Given the description of an element on the screen output the (x, y) to click on. 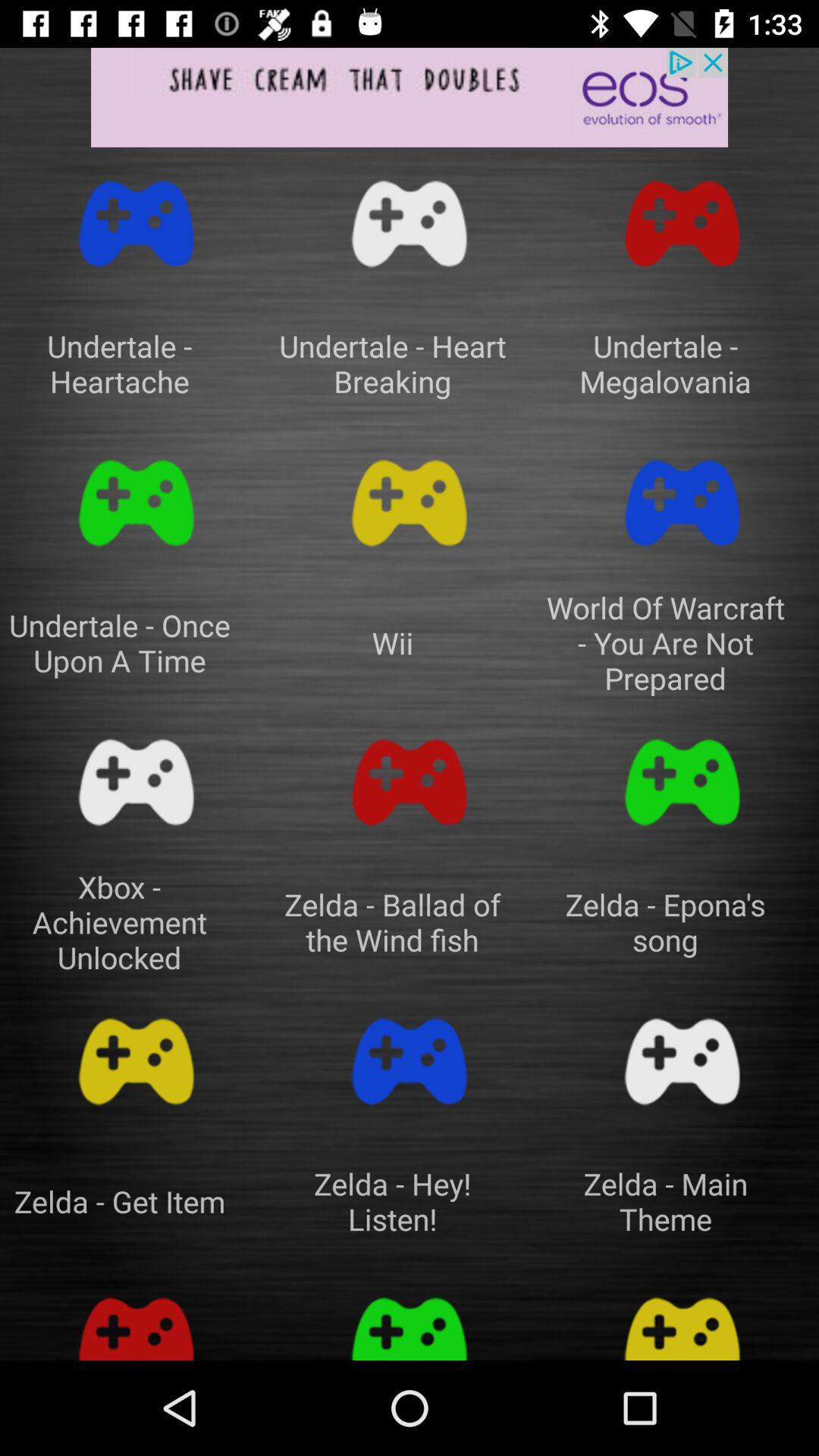
game (409, 503)
